Given the description of an element on the screen output the (x, y) to click on. 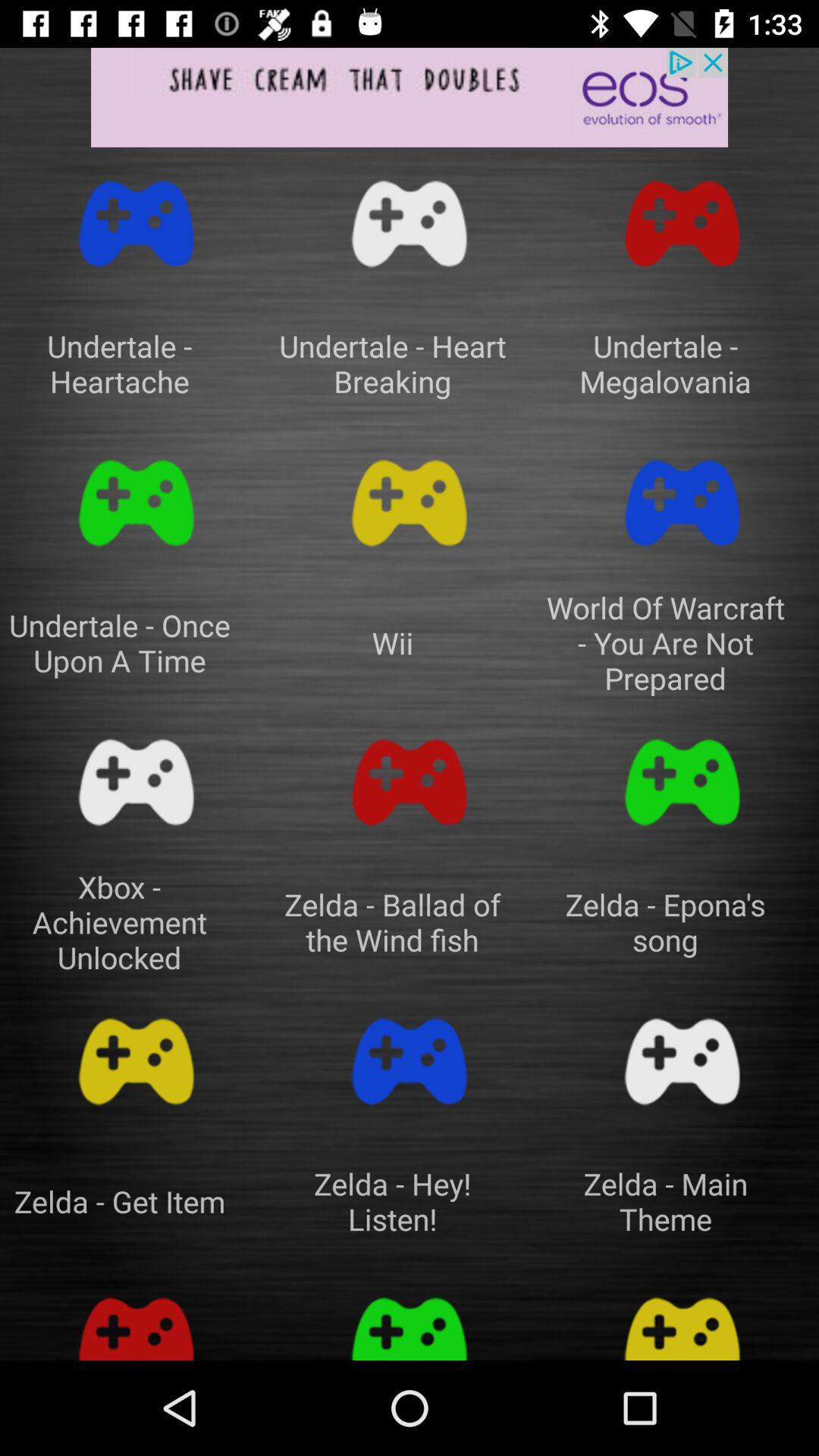
game (409, 503)
